Given the description of an element on the screen output the (x, y) to click on. 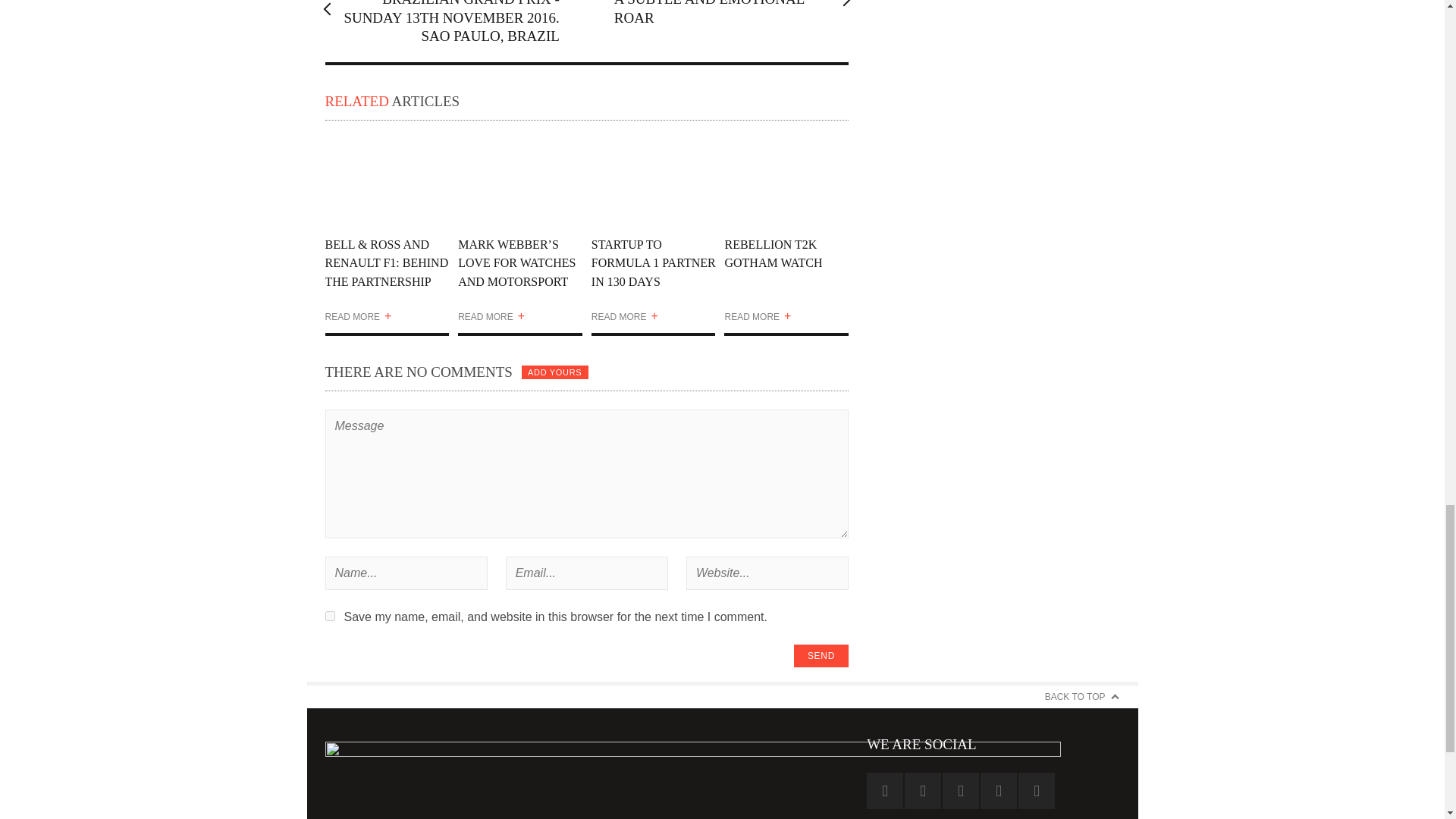
Send (820, 655)
yes (329, 615)
